Given the description of an element on the screen output the (x, y) to click on. 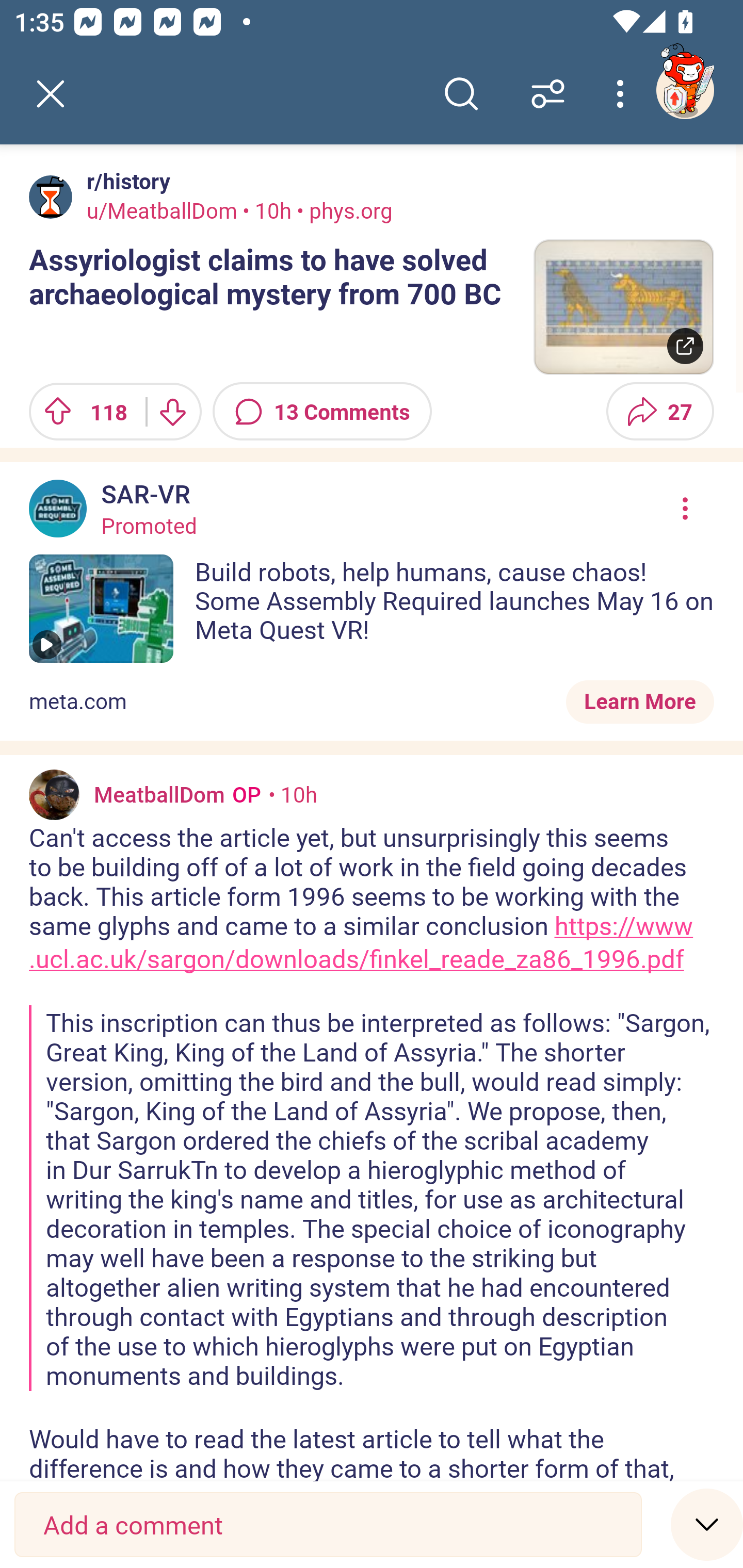
Back (50, 93)
TestAppium002 account (685, 90)
Search comments (460, 93)
Sort comments (547, 93)
More options (623, 93)
r/history (124, 181)
Avatar (50, 196)
u/MeatballDom (161, 210)
 • phys.org (341, 210)
Thumbnail image (623, 306)
Upvote 118 (79, 411)
Downvote (171, 411)
13 Comments (321, 411)
Share 27 (660, 411)
Avatar (53, 794)
OP (242, 794)
• 10h (292, 794)
Speed read (706, 1524)
Add a comment (327, 1524)
